Given the description of an element on the screen output the (x, y) to click on. 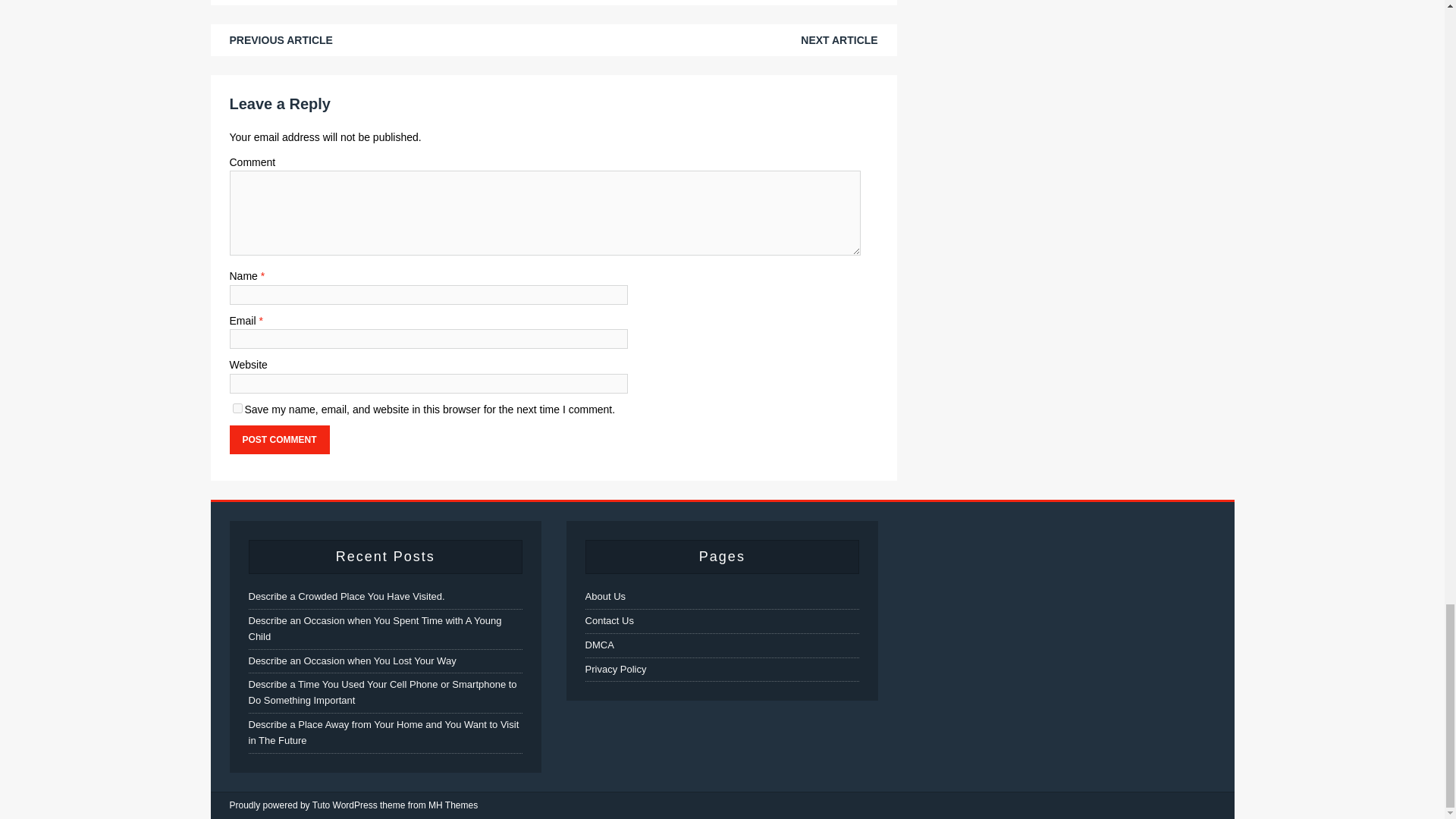
Post Comment (278, 439)
yes (236, 407)
NEXT ARTICLE (838, 39)
Post Comment (278, 439)
PREVIOUS ARTICLE (279, 39)
